Given the description of an element on the screen output the (x, y) to click on. 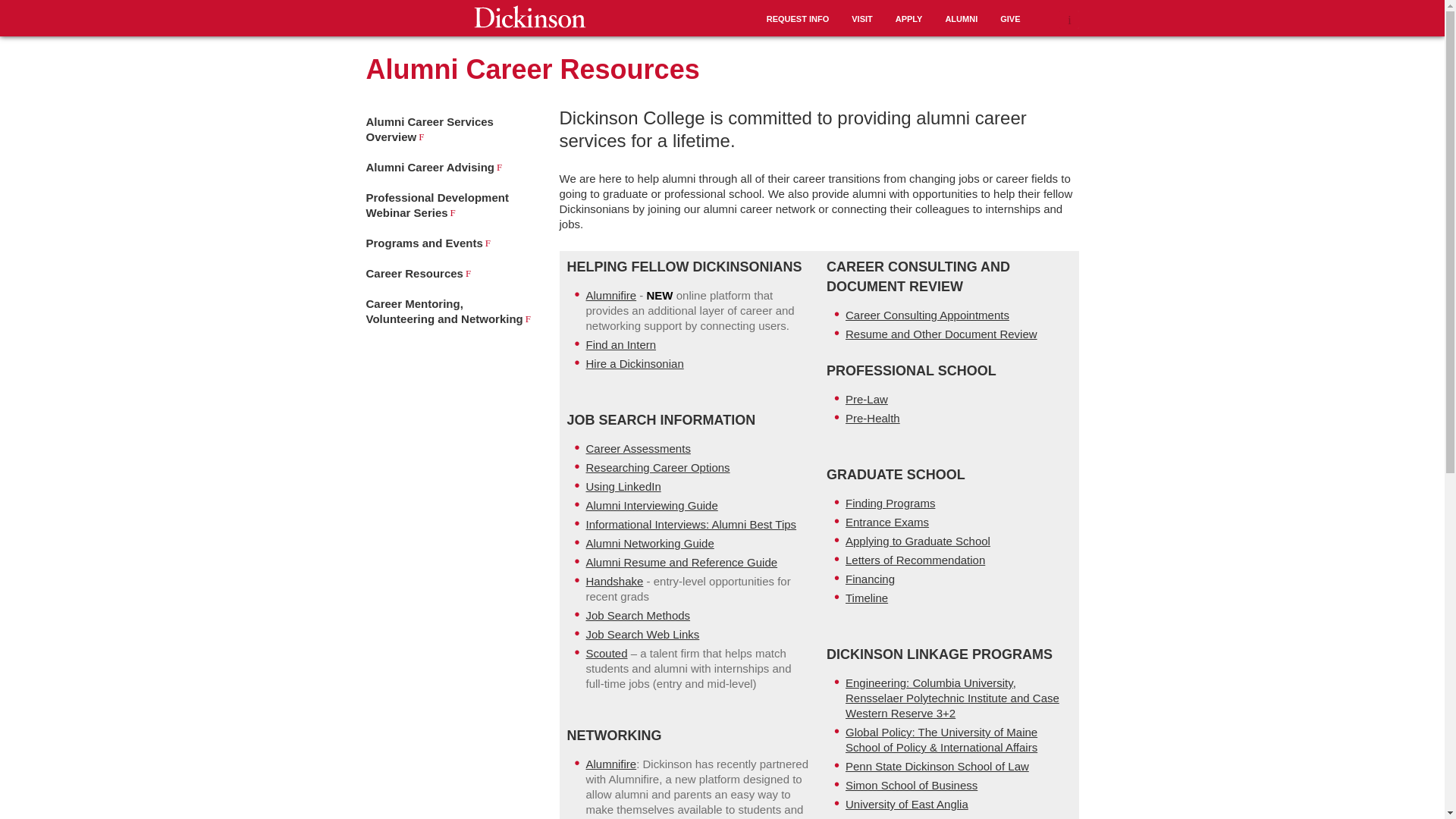
Researching Career Options (657, 467)
Using LinkedIn (623, 486)
Find an Intern (620, 344)
APPLY (909, 18)
DICKINSON COLLEGE (529, 15)
GIVE (1010, 18)
Career Assessments (637, 448)
Alumni Interviewing Guide (651, 504)
ALUMNI (960, 18)
Alumnifire (610, 295)
REQUEST INFO (798, 18)
VISIT (861, 18)
Hire a Dickinsonian (633, 363)
